Given the description of an element on the screen output the (x, y) to click on. 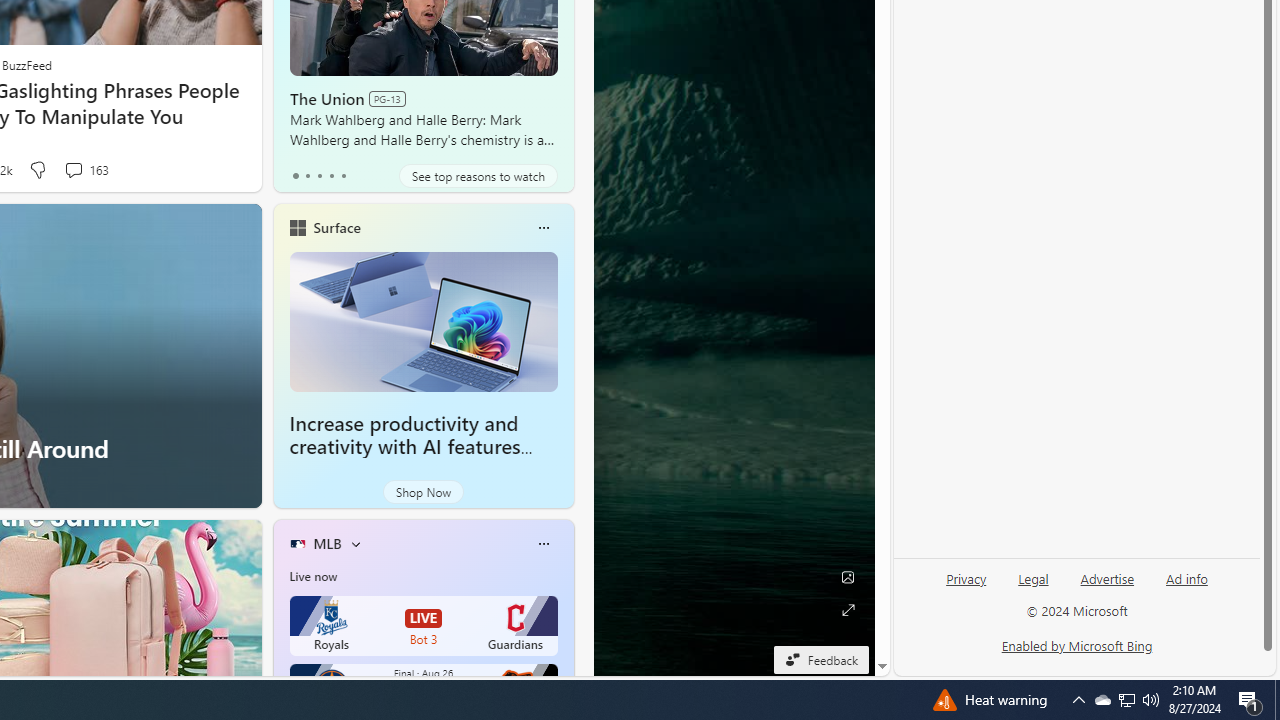
View comments 163 Comment (73, 169)
tab-4 (342, 175)
Class: icon-img (543, 543)
Expand background (847, 610)
tab-1 (306, 175)
See top reasons to watch (478, 175)
MLB (327, 543)
